Given the description of an element on the screen output the (x, y) to click on. 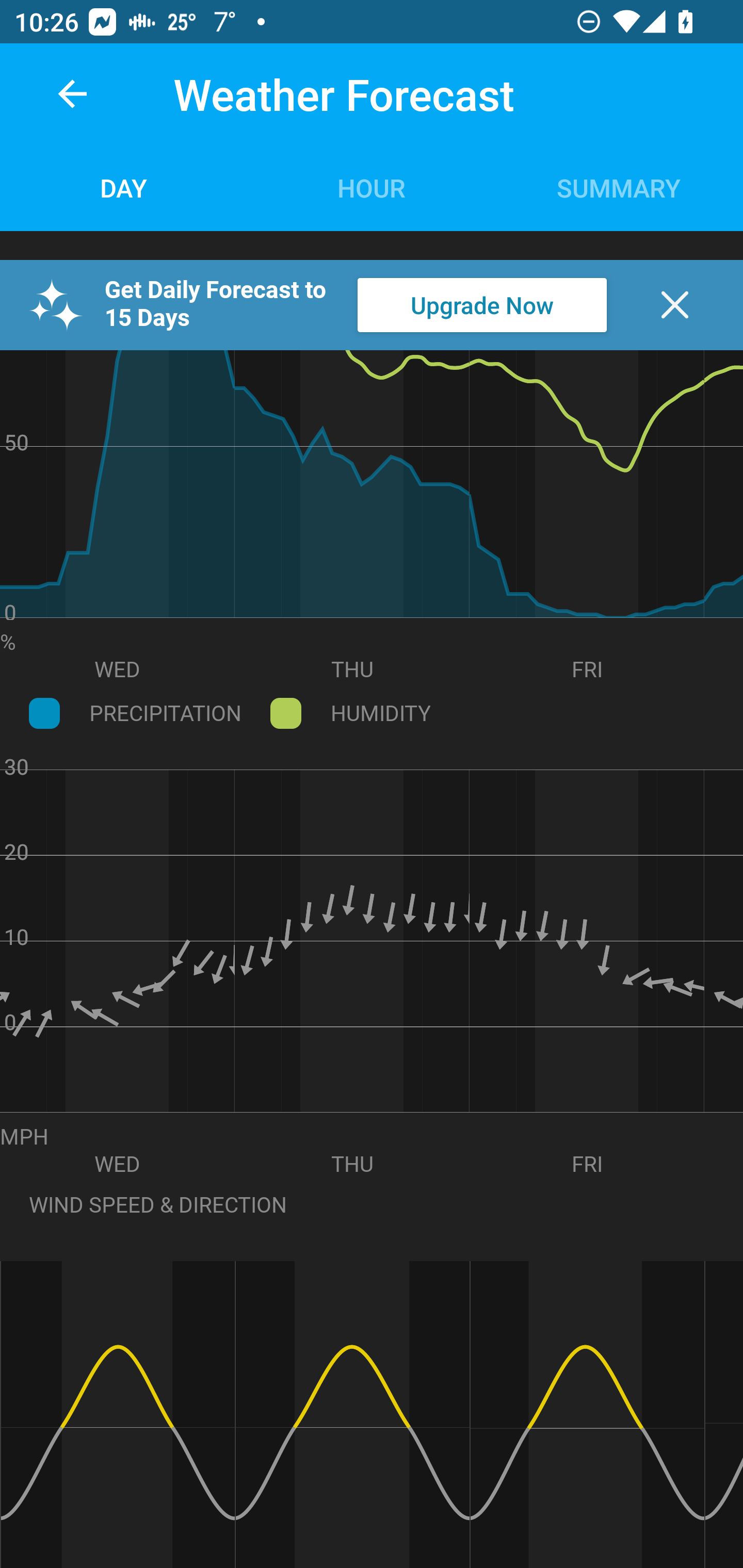
back (71, 93)
Hour Tab HOUR (371, 187)
Summary Tab SUMMARY (619, 187)
Upgrade Now (482, 304)
